Given the description of an element on the screen output the (x, y) to click on. 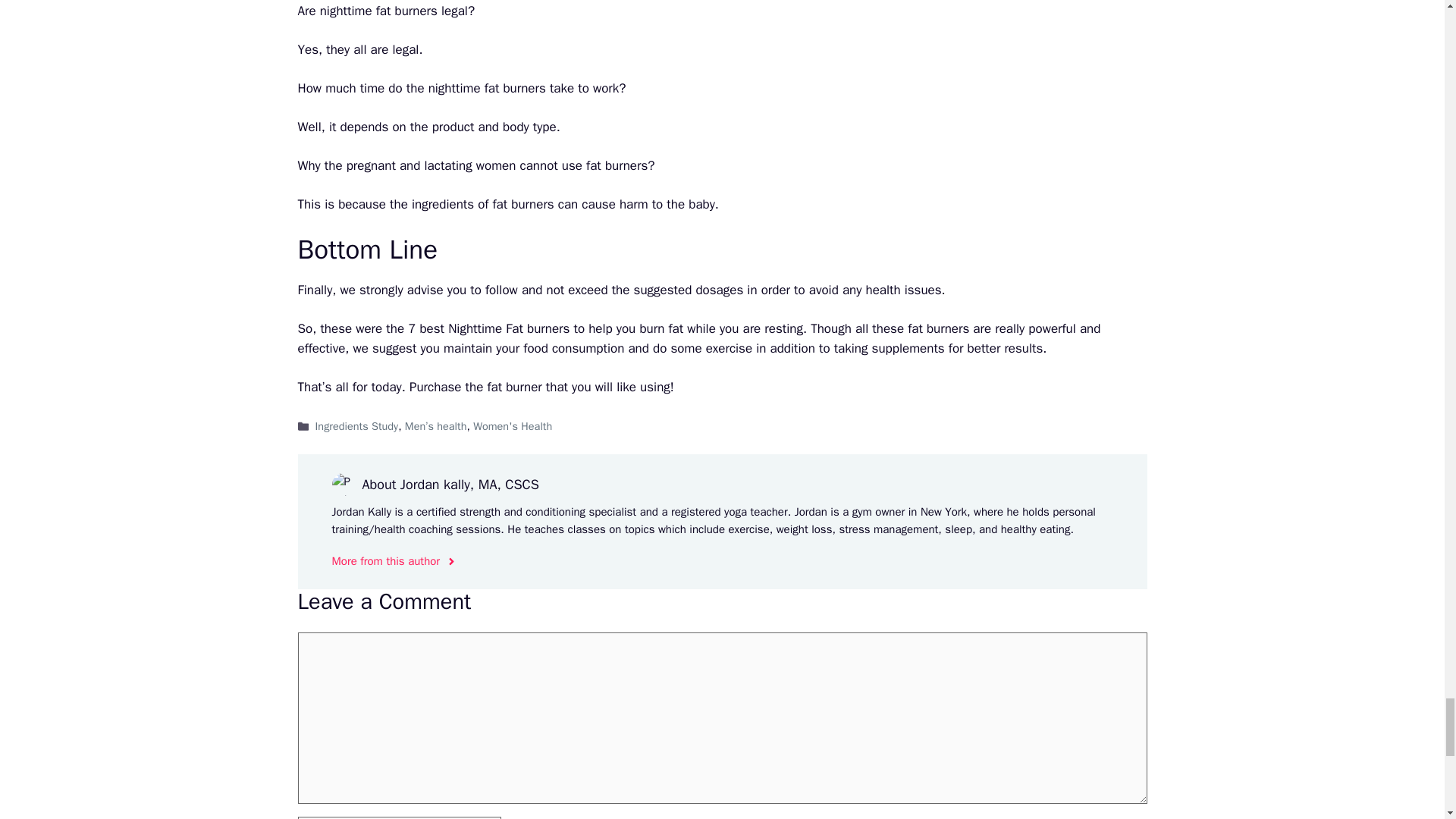
More from this author (394, 561)
Ingredients Study (356, 426)
Women's Health (512, 426)
